Given the description of an element on the screen output the (x, y) to click on. 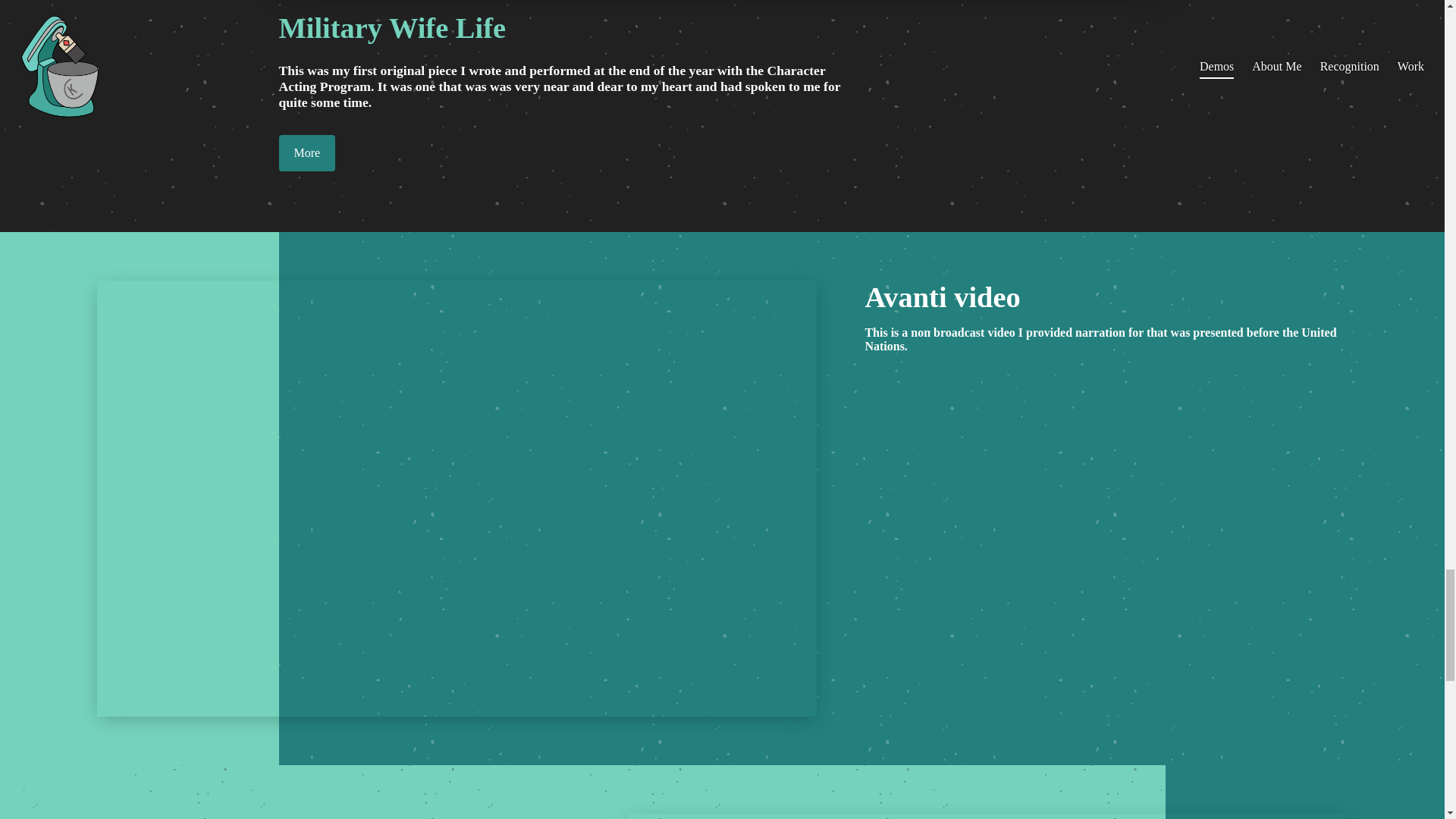
More (307, 153)
